Given the description of an element on the screen output the (x, y) to click on. 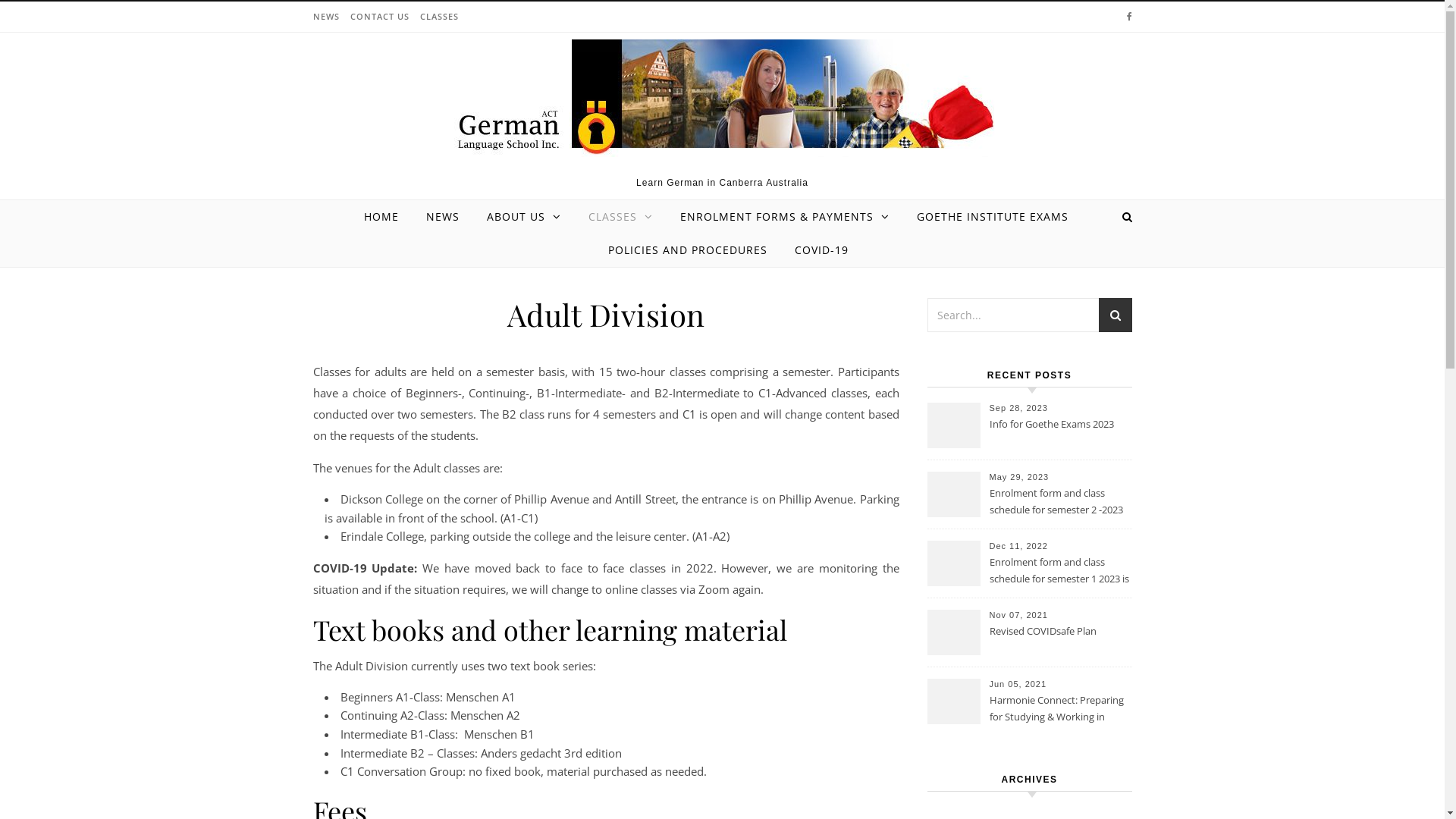
st Element type: text (1114, 317)
POLICIES AND PROCEDURES Element type: text (687, 249)
Info for Goethe Exams 2023 Element type: text (1058, 432)
ABOUT US Element type: text (523, 216)
NEWS Element type: text (327, 16)
ENROLMENT FORMS & PAYMENTS Element type: text (784, 216)
CLASSES Element type: text (620, 216)
CONTACT US Element type: text (378, 16)
GOETHE INSTITUTE EXAMS Element type: text (992, 216)
COVID-19 Element type: text (815, 249)
Revised COVIDsafe Plan Element type: text (1058, 639)
NEWS Element type: text (442, 216)
HOME Element type: text (387, 216)
ACT German Language School Element type: hover (721, 97)
CLASSES Element type: text (436, 16)
